Given the description of an element on the screen output the (x, y) to click on. 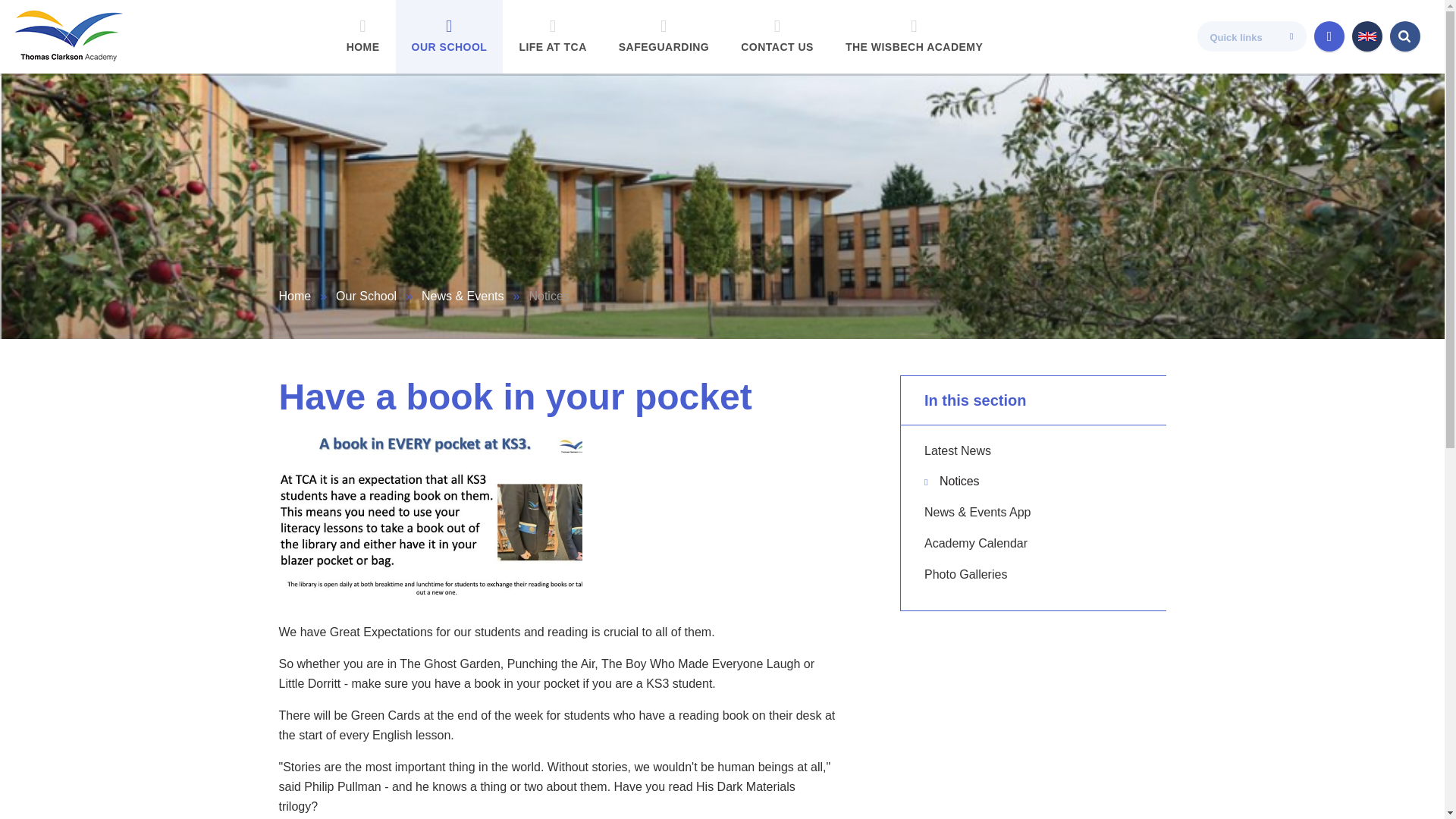
HOME (363, 36)
OUR SCHOOL (449, 36)
